Given the description of an element on the screen output the (x, y) to click on. 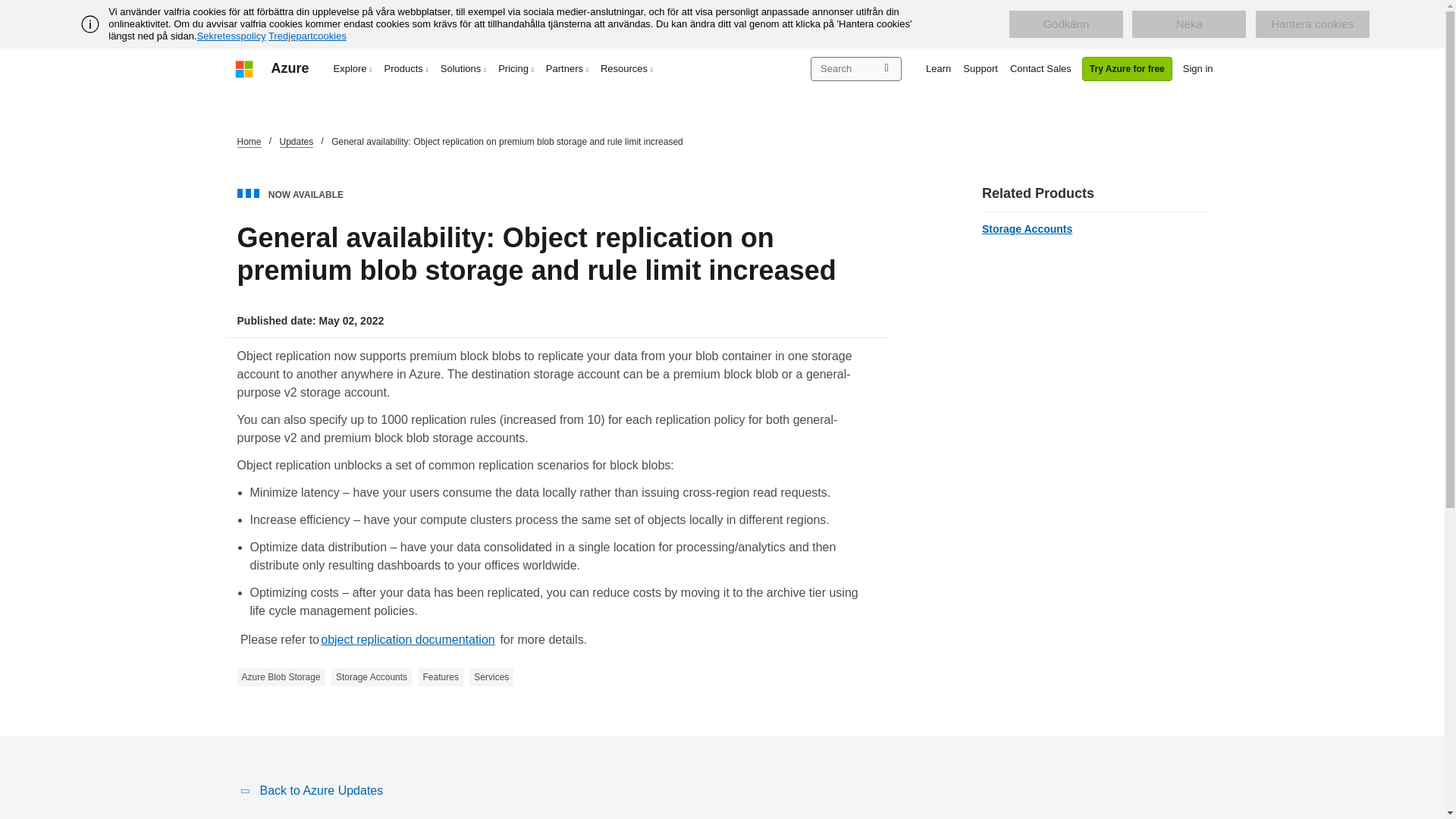
Azure (289, 68)
Explore (352, 68)
Tredjepartcookies (306, 35)
Hantera cookies (1312, 23)
Sekretesspolicy (231, 35)
Products (405, 68)
Neka (1189, 23)
Skip to main content (7, 7)
